Given the description of an element on the screen output the (x, y) to click on. 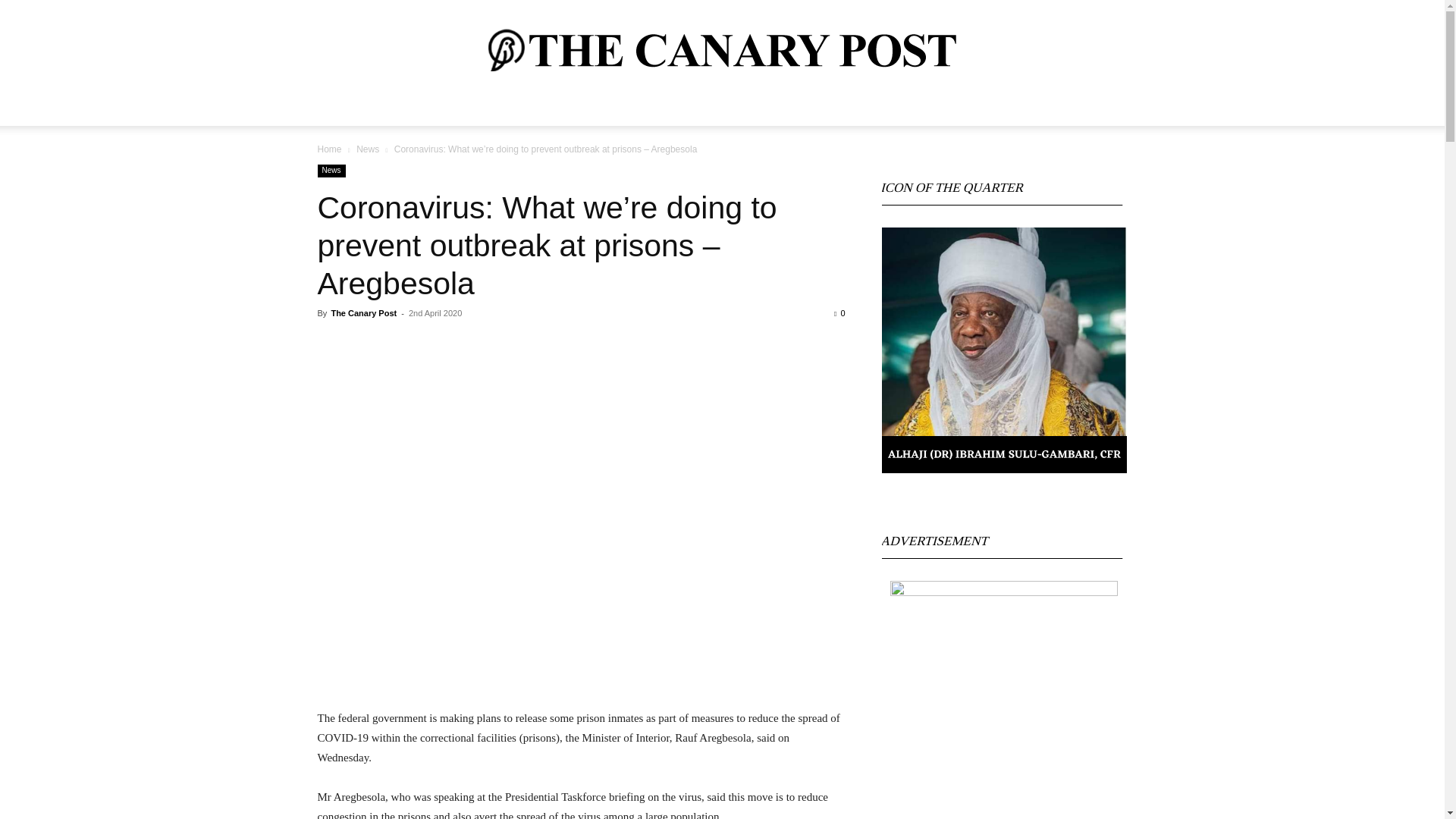
WORLD (401, 112)
